Given the description of an element on the screen output the (x, y) to click on. 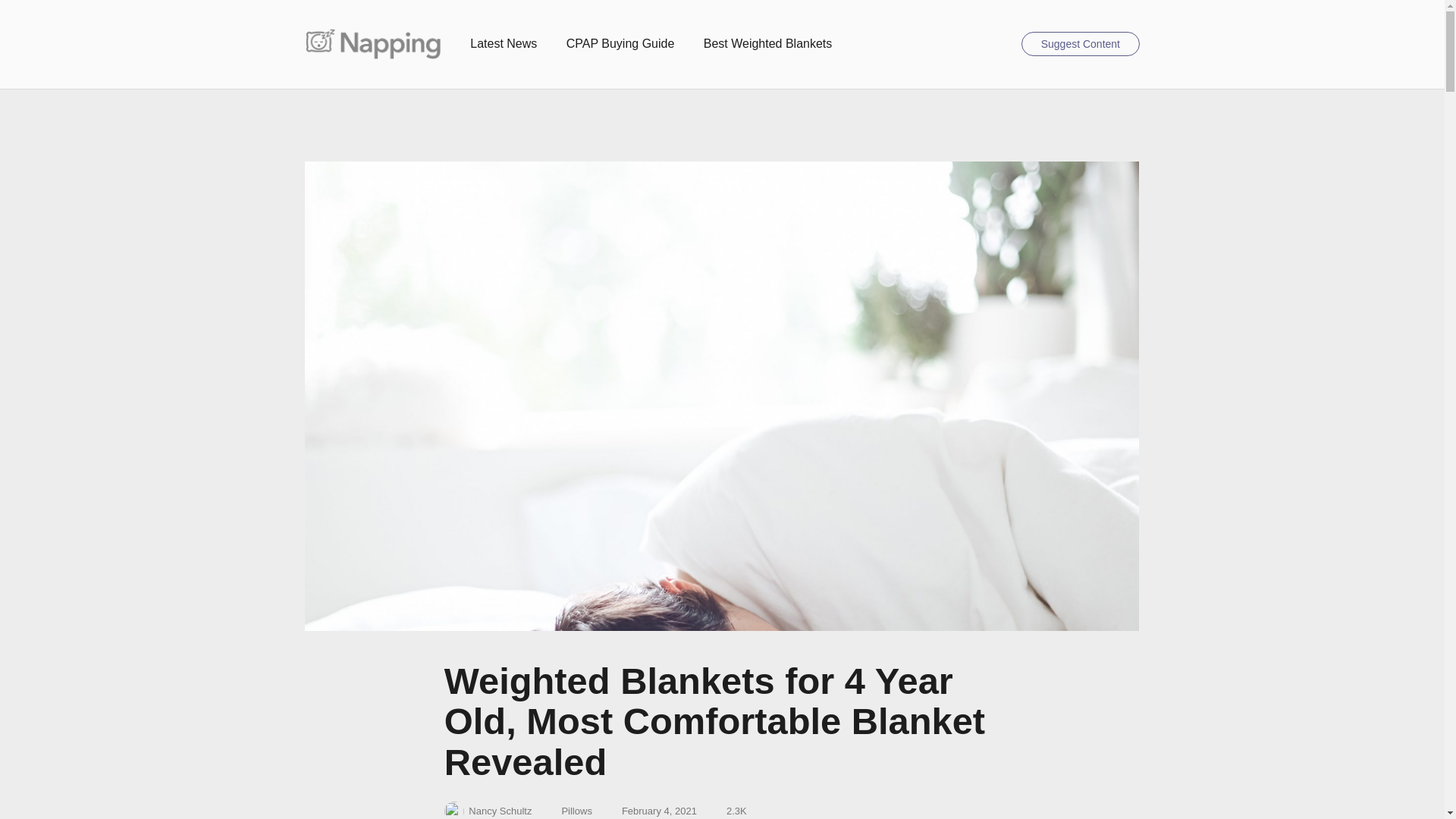
Author (488, 810)
Published: 2021-02-04 19:53 (650, 811)
Terms (568, 811)
Pillows (575, 811)
CPAP Buying Guide (620, 44)
Best Weighted Blankets (767, 44)
Views (727, 811)
Suggest Content (1080, 43)
Search (1002, 43)
Napping.com (372, 43)
